Given the description of an element on the screen output the (x, y) to click on. 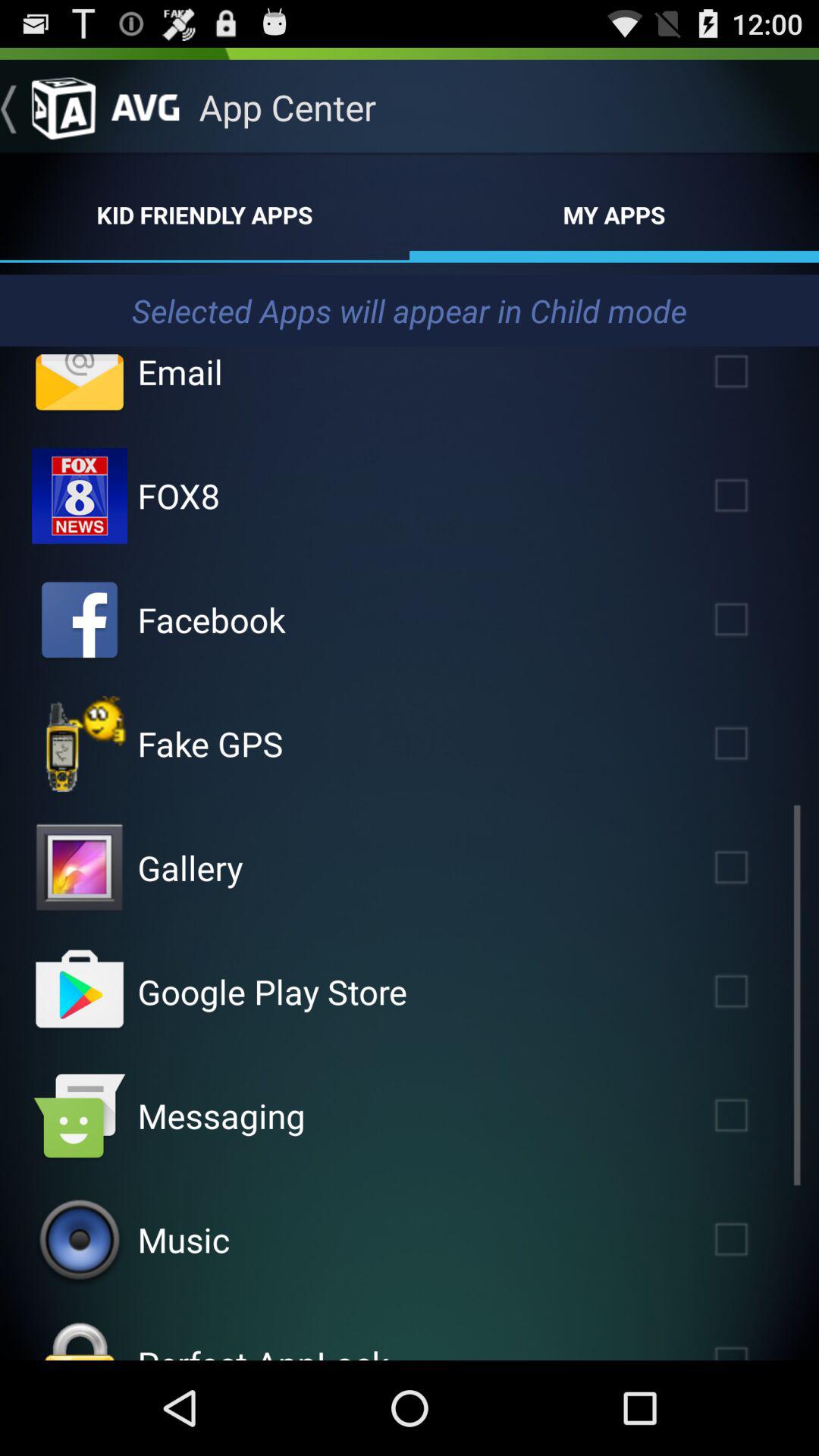
check messaging (753, 1115)
